Given the description of an element on the screen output the (x, y) to click on. 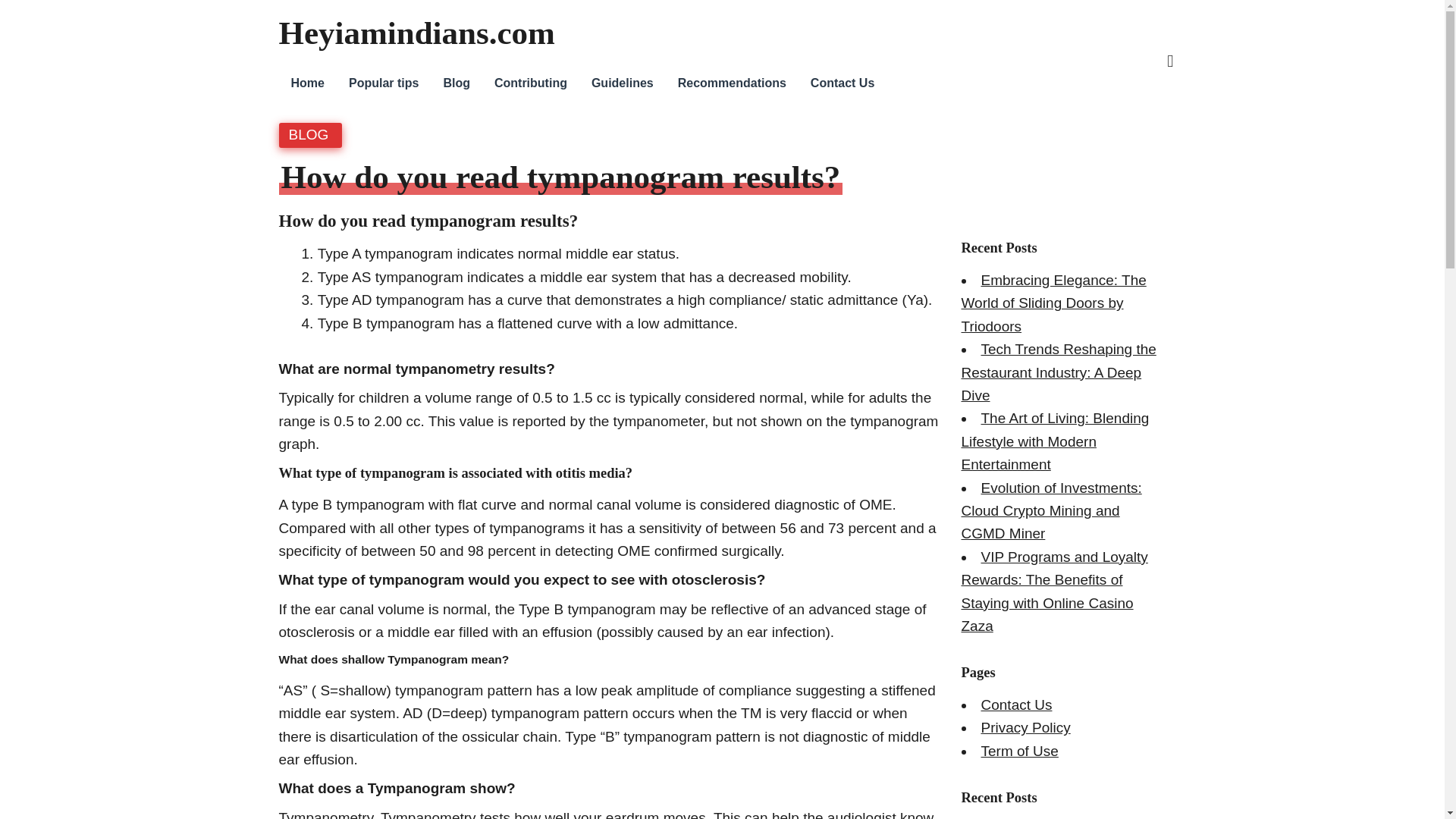
Heyiamindians.com (416, 32)
Blog (455, 83)
Home (307, 83)
Popular tips (383, 83)
Embracing Elegance: The World of Sliding Doors by Triodoors (1053, 302)
Tech Trends Reshaping the Restaurant Industry: A Deep Dive (1058, 372)
Recommendations (731, 83)
Contact Us (841, 83)
Guidelines (622, 83)
